Given the description of an element on the screen output the (x, y) to click on. 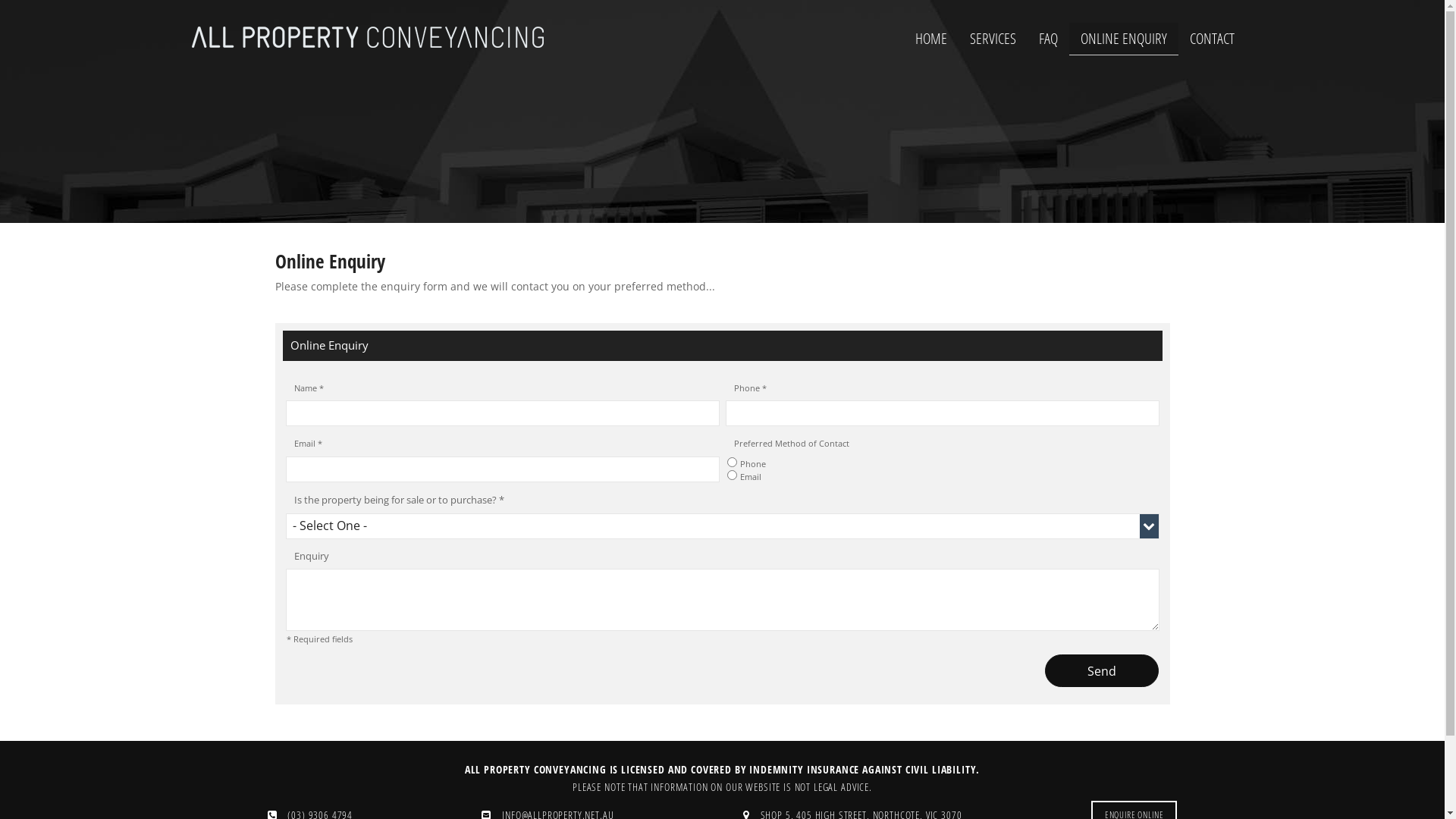
HOME Element type: text (930, 38)
ONLINE ENQUIRY Element type: text (1123, 38)
SERVICES Element type: text (992, 38)
CONTACT Element type: text (1211, 38)
FAQ Element type: text (1047, 38)
Send Element type: text (1101, 670)
